Given the description of an element on the screen output the (x, y) to click on. 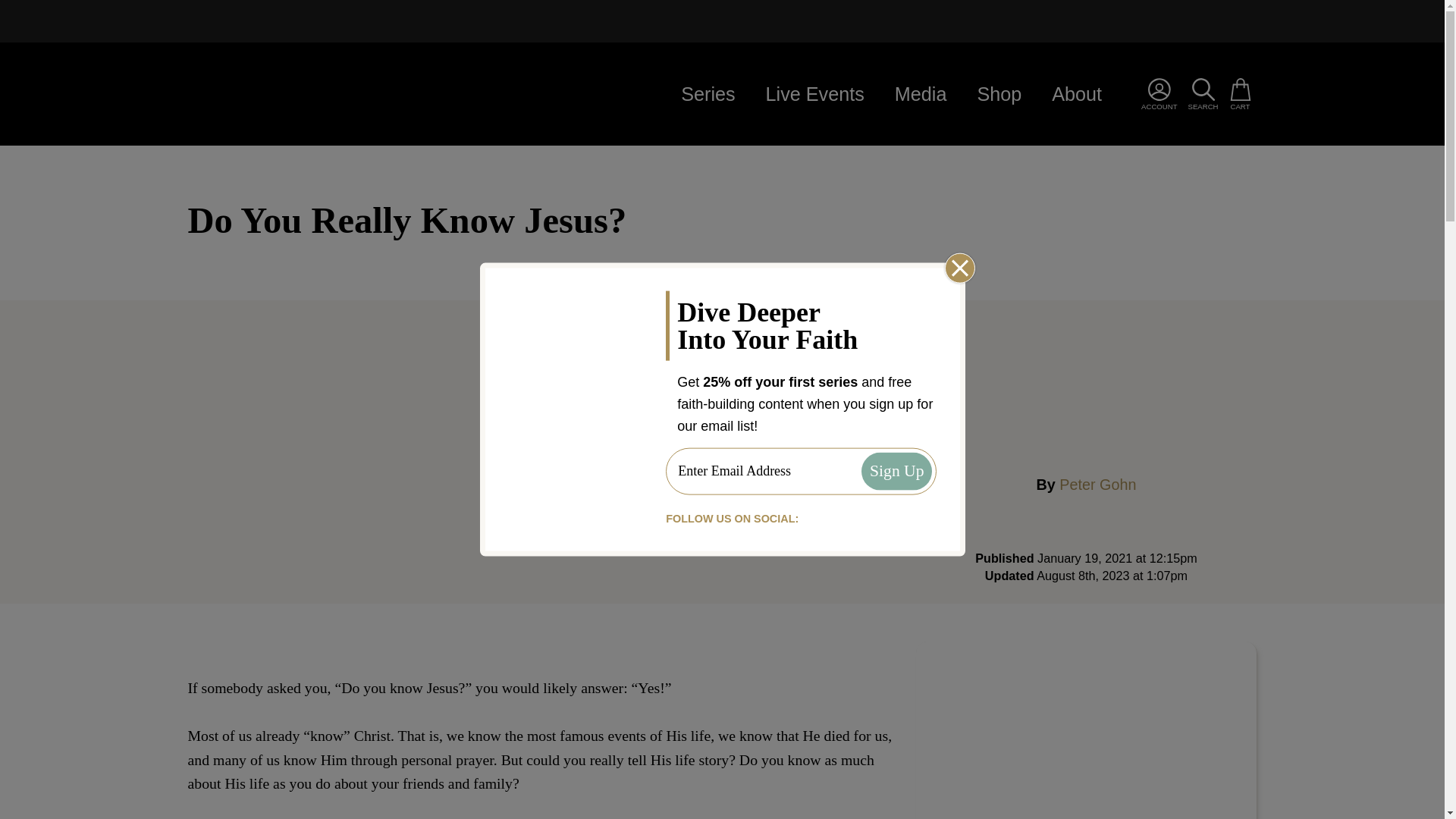
About (1076, 93)
User Account (1158, 93)
Live Events (815, 93)
Sign Up (896, 471)
Posts by Peter Gohn (1097, 484)
ACCOUNT (1158, 93)
Peter Gohn (1097, 484)
Good Catholic (1086, 730)
Shop (312, 92)
Media (998, 93)
Series (920, 93)
